Given the description of an element on the screen output the (x, y) to click on. 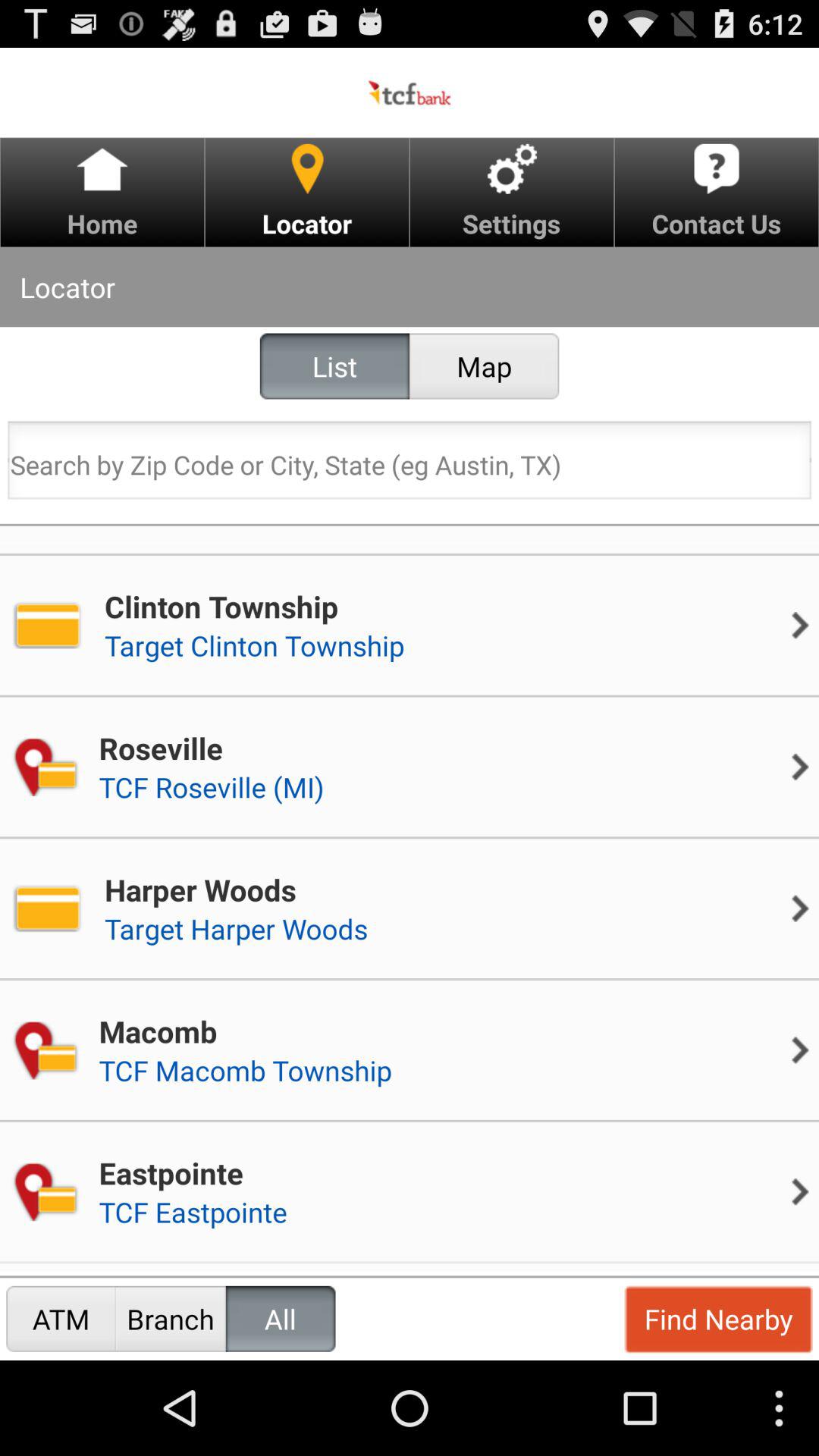
tap icon below settings item (484, 366)
